Given the description of an element on the screen output the (x, y) to click on. 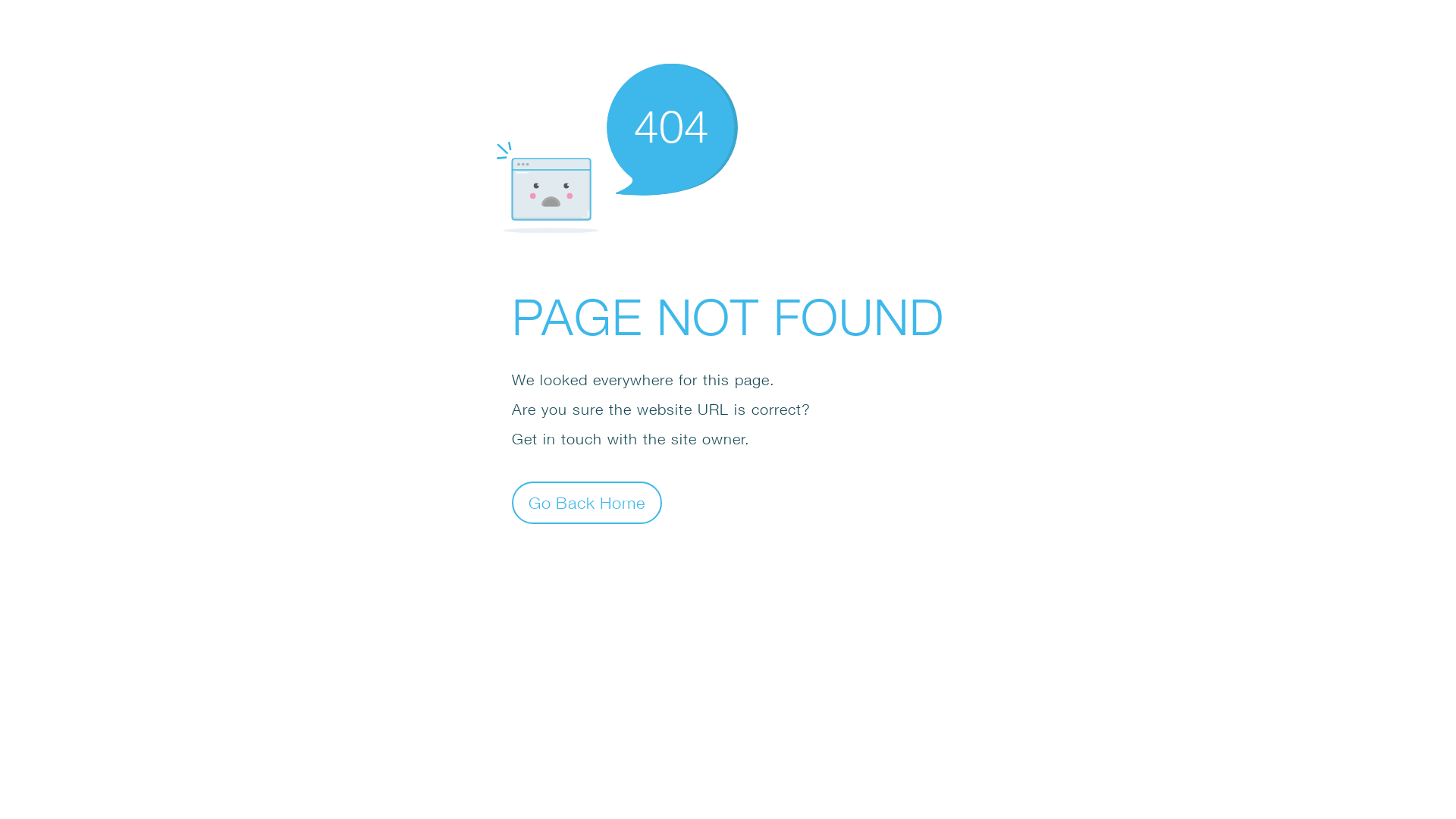
Go Back Home Element type: text (586, 502)
